Given the description of an element on the screen output the (x, y) to click on. 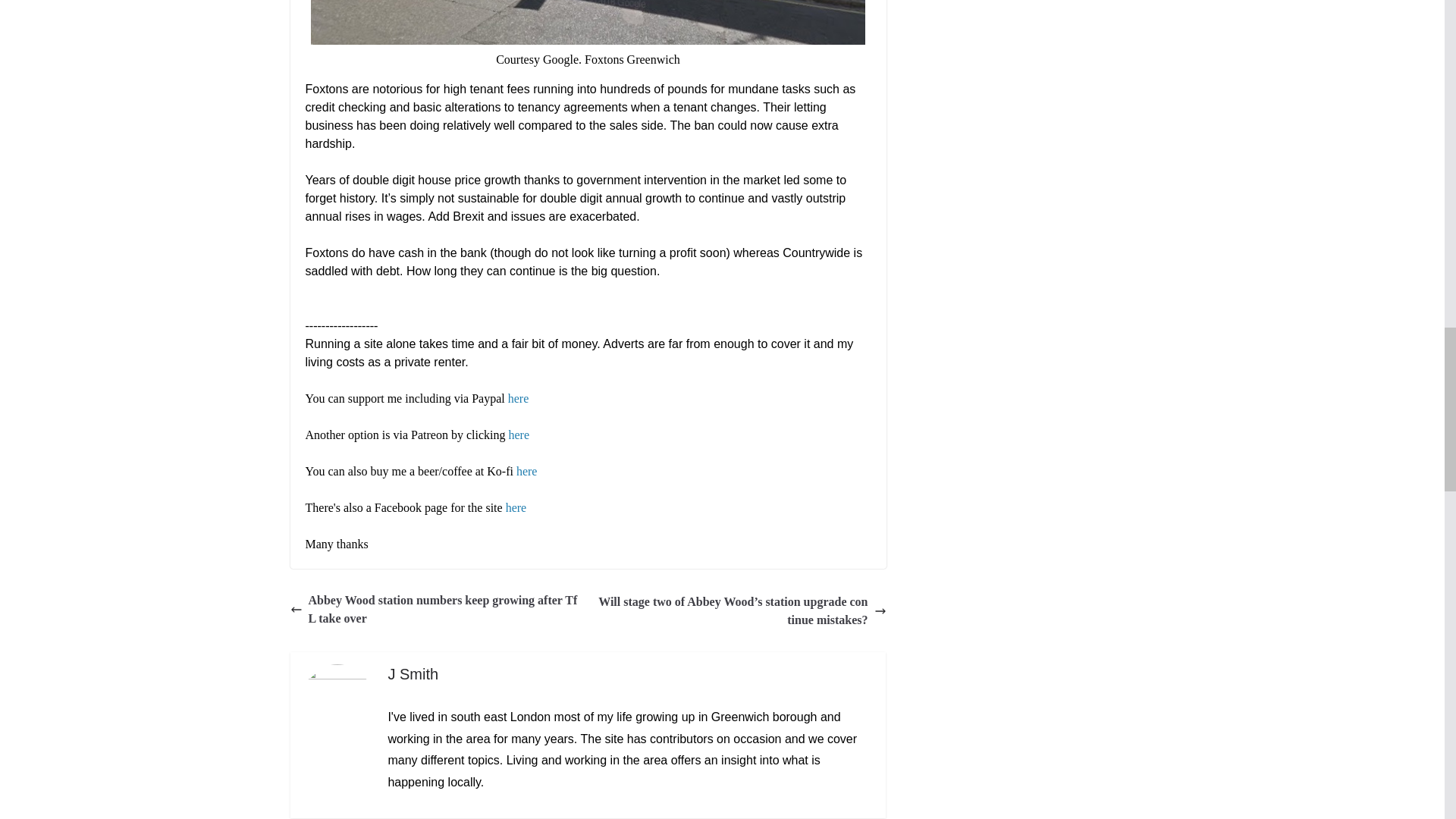
here (518, 398)
here (518, 434)
Abbey Wood station numbers keep growing after TfL take over (434, 609)
here (526, 471)
here (516, 507)
